Given the description of an element on the screen output the (x, y) to click on. 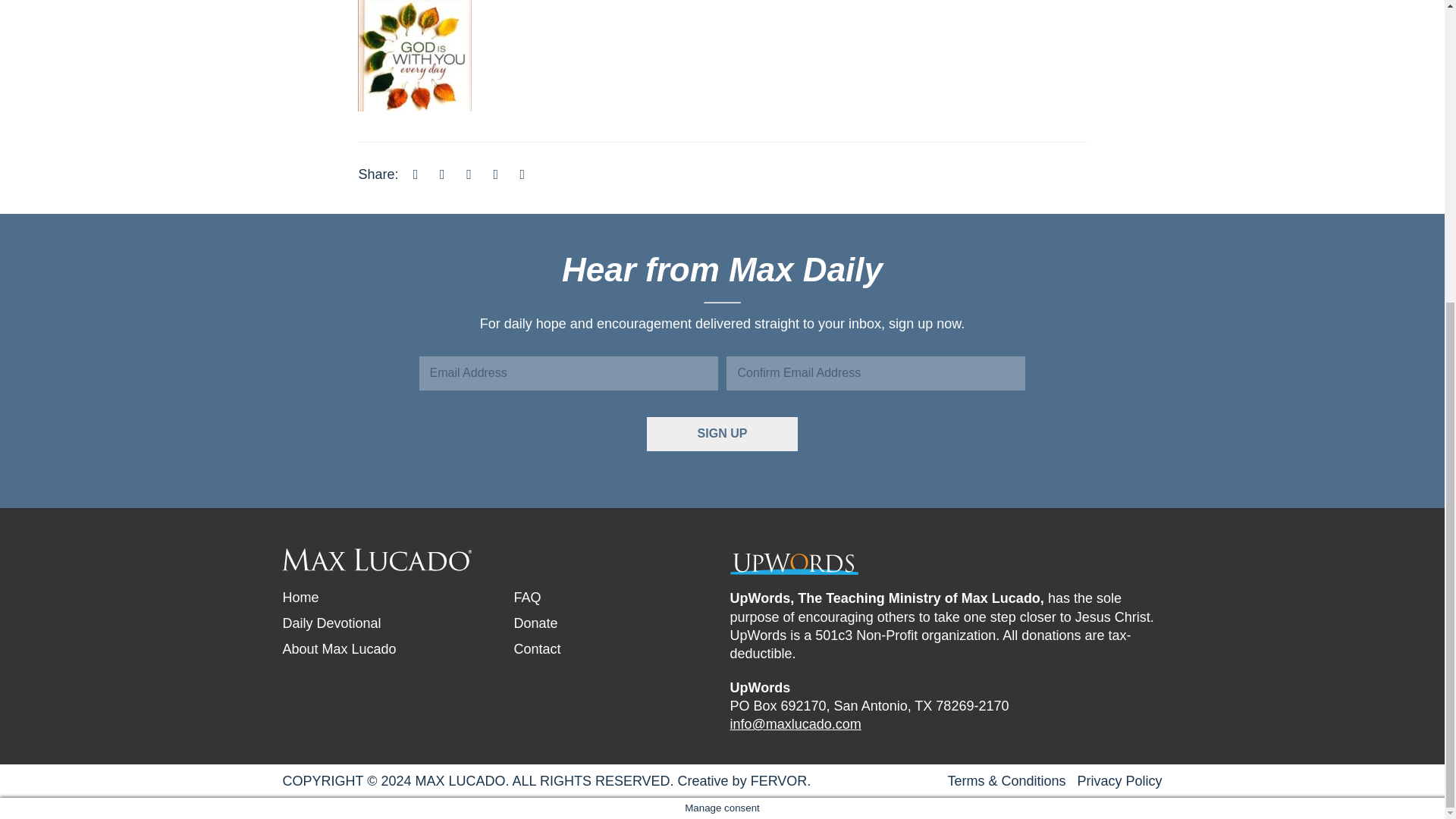
About Max Lucado (339, 648)
Share via Twitter (441, 174)
Daily Devotional (331, 622)
God is with You (414, 55)
Email UpWords (794, 724)
Share via Pinterest (495, 174)
Sign Up (721, 433)
Sign Up (721, 433)
Share via linkedIn (469, 174)
God is with You (414, 46)
